Given the description of an element on the screen output the (x, y) to click on. 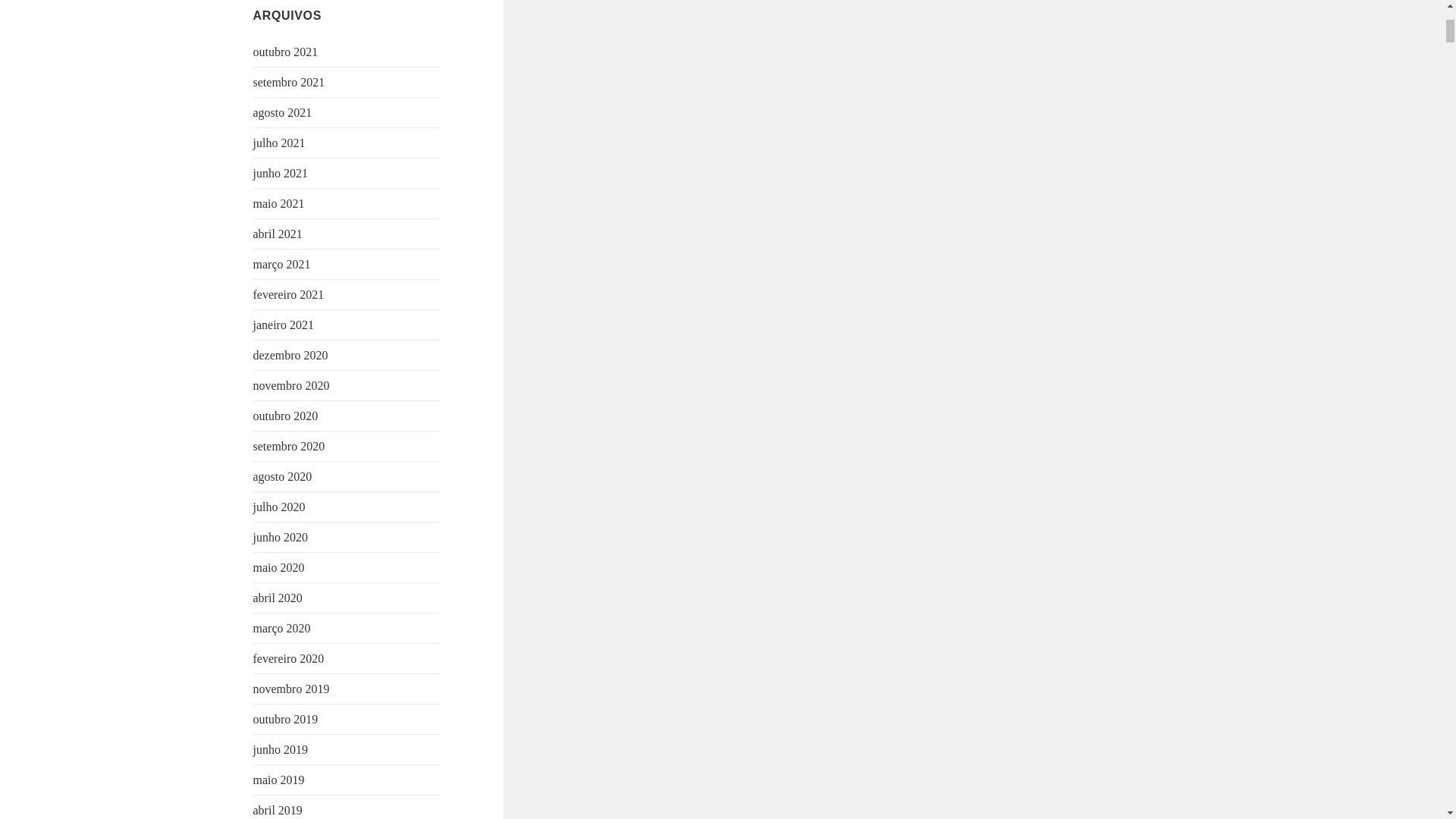
julho 2020 (279, 506)
junho 2021 (280, 173)
junho 2019 (280, 748)
novembro 2019 (291, 688)
outubro 2019 (285, 718)
maio 2020 (278, 567)
setembro 2021 (288, 82)
junho 2020 (280, 536)
janeiro 2021 (283, 324)
abril 2019 (277, 809)
julho 2021 (279, 142)
maio 2021 (278, 203)
agosto 2020 (283, 476)
maio 2019 (278, 779)
fevereiro 2021 (288, 294)
